Given the description of an element on the screen output the (x, y) to click on. 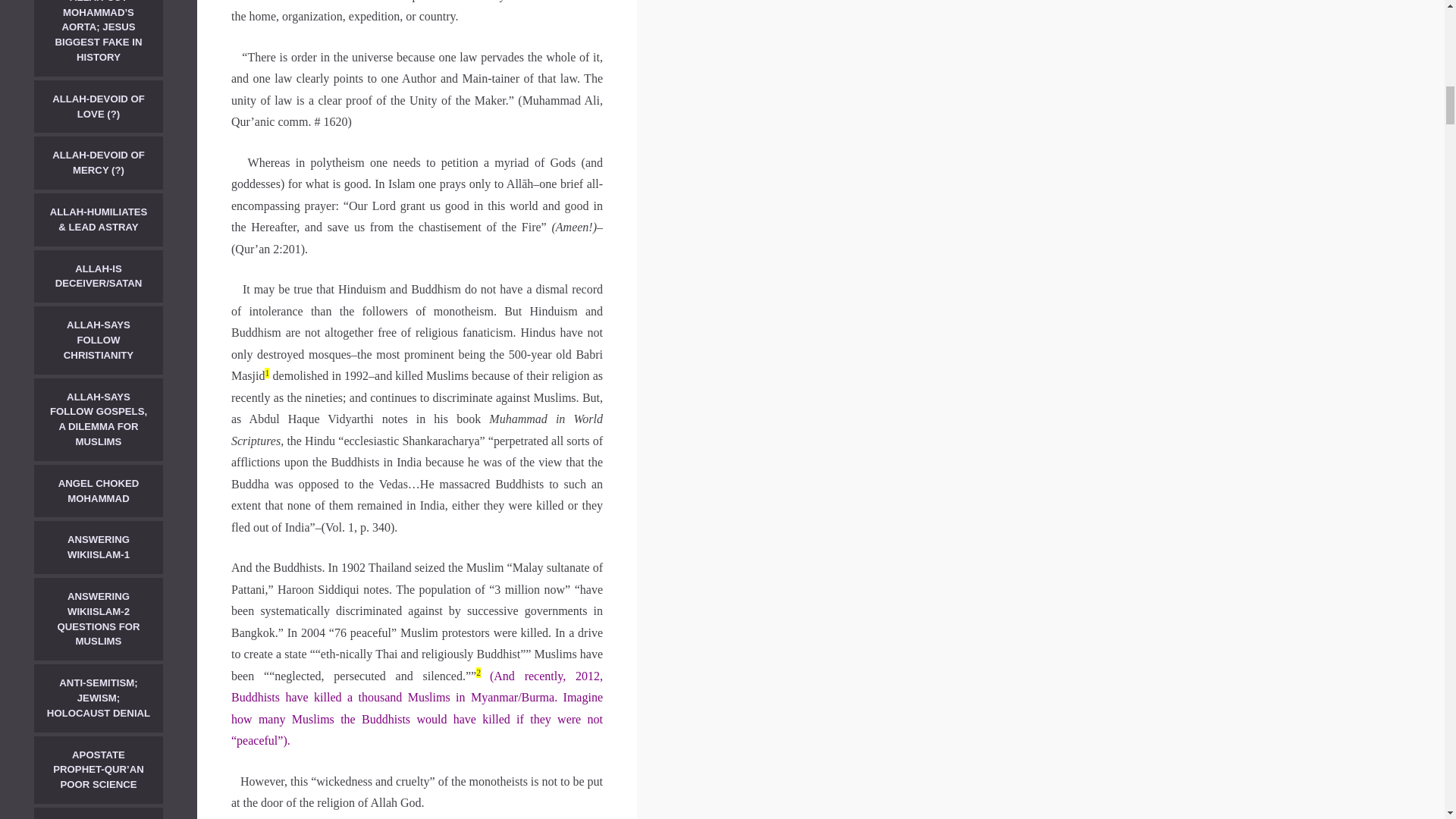
ANGEL CHOKED MOHAMMAD (98, 491)
ANTI-SEMITISM; JEWISM; HOLOCAUST DENIAL (98, 698)
ARABIA -NON-MUSLIMS AND WORSHIP (98, 813)
ALLAH-SAYS FOLLOW CHRISTIANITY (98, 339)
ALLAH-SAYS FOLLOW GOSPELS, A DILEMMA FOR MUSLIMS (98, 419)
ANSWERING WIKIISLAM-1 (98, 547)
ANSWERING WIKIISLAM-2 QUESTIONS FOR MUSLIMS (98, 619)
